Given the description of an element on the screen output the (x, y) to click on. 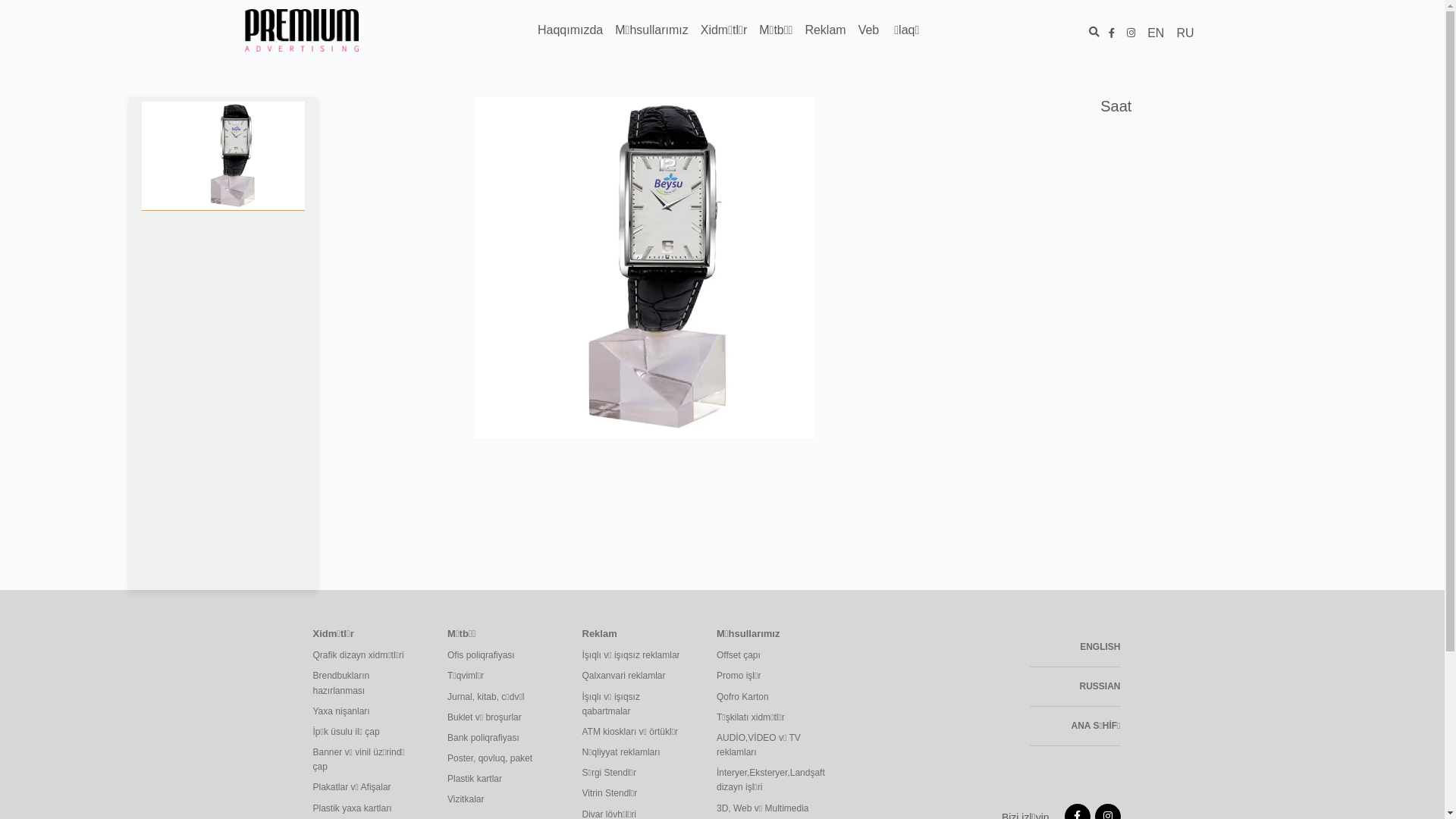
RU Element type: text (1184, 33)
RUSSIAN Element type: text (1074, 686)
Veb Element type: text (868, 30)
Reklam Element type: text (824, 30)
ENGLISH Element type: text (1074, 646)
Plastik kartlar Element type: text (503, 778)
Qofro Karton Element type: text (772, 697)
EN Element type: text (1155, 33)
Vizitkalar Element type: text (503, 799)
Qalxanvari reklamlar Element type: text (638, 675)
Poster, qovluq, paket Element type: text (503, 758)
